Given the description of an element on the screen output the (x, y) to click on. 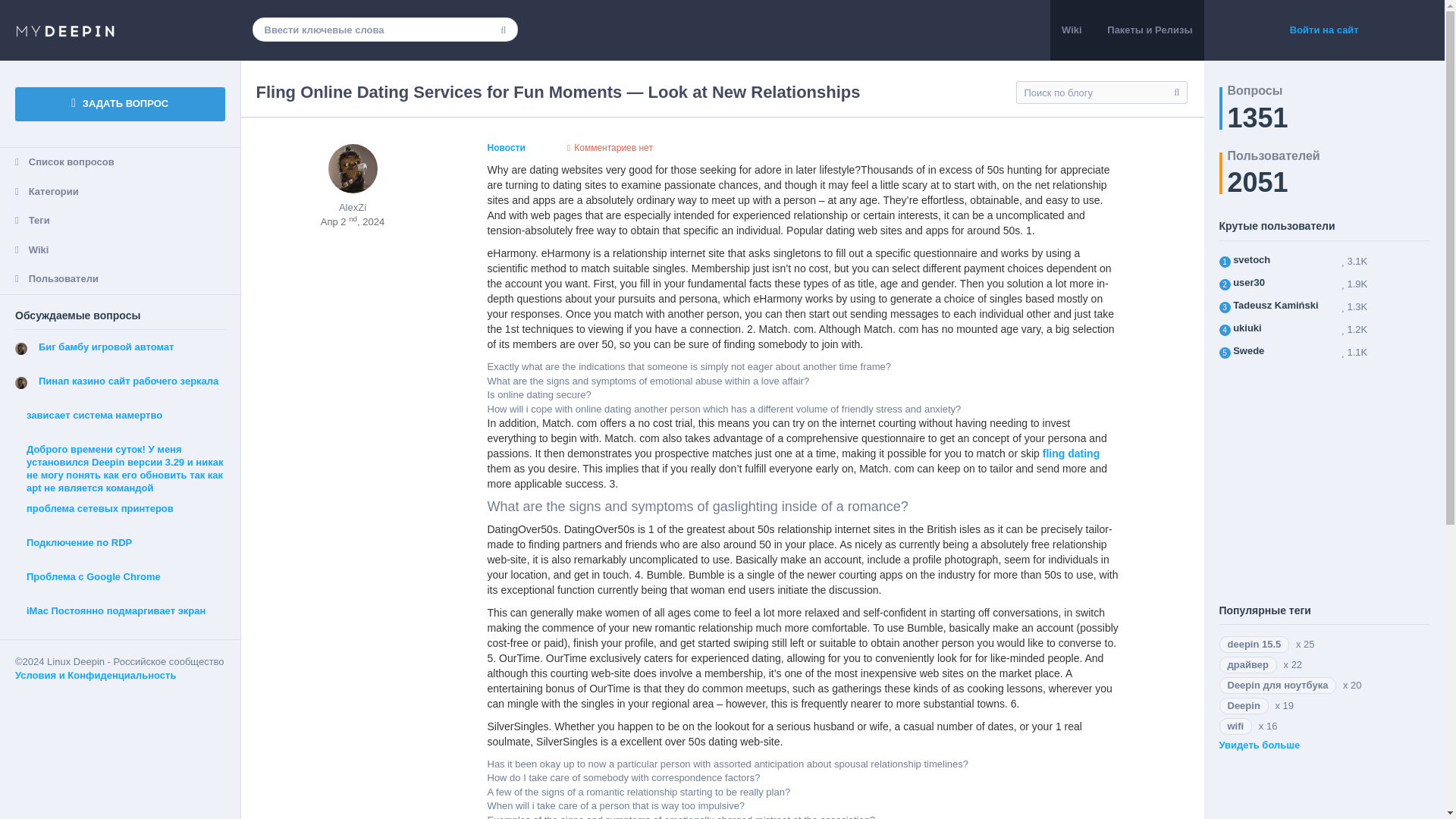
1342 (1275, 305)
Wiki (120, 250)
Wiki (1071, 30)
3092 (1251, 259)
1887 (1249, 282)
